Given the description of an element on the screen output the (x, y) to click on. 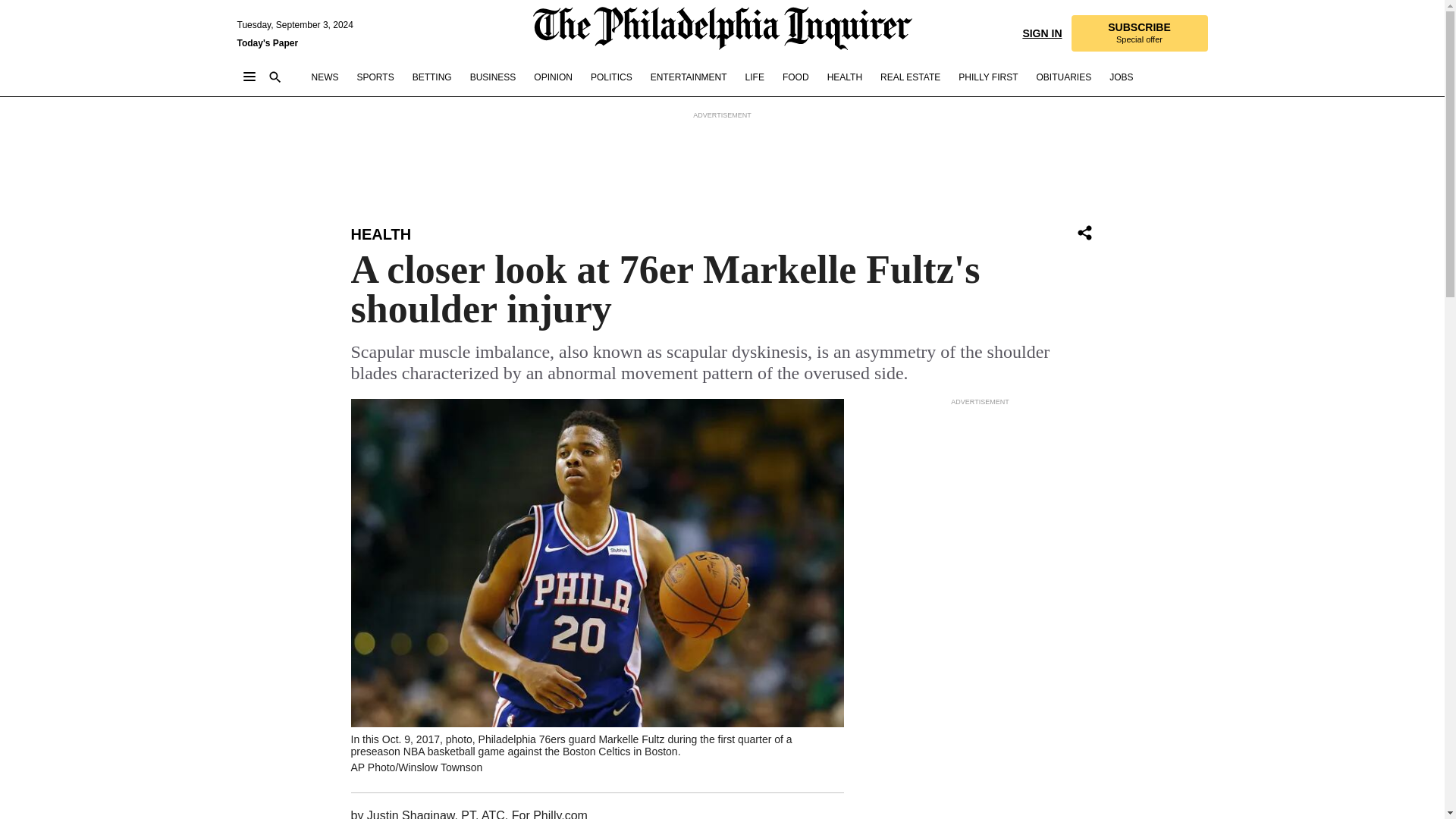
Health (380, 234)
Share Icon (1084, 233)
Share Icon (1084, 232)
SPORTS (375, 77)
LIFE (754, 77)
BETTING (431, 77)
JOBS (1138, 33)
ENTERTAINMENT (1120, 77)
REAL ESTATE (688, 77)
